Given the description of an element on the screen output the (x, y) to click on. 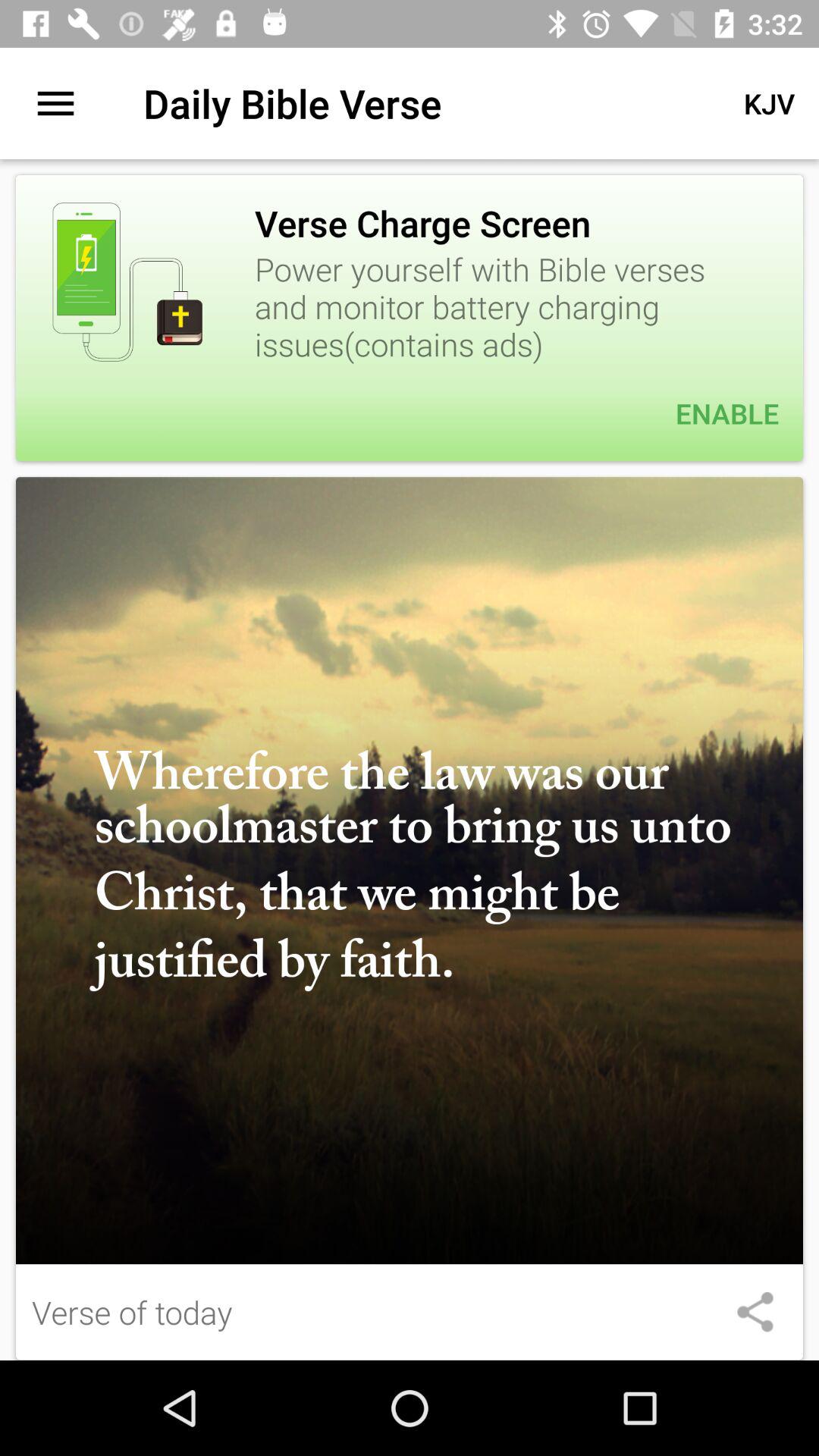
select item to the right of the verse of today icon (755, 1311)
